Given the description of an element on the screen output the (x, y) to click on. 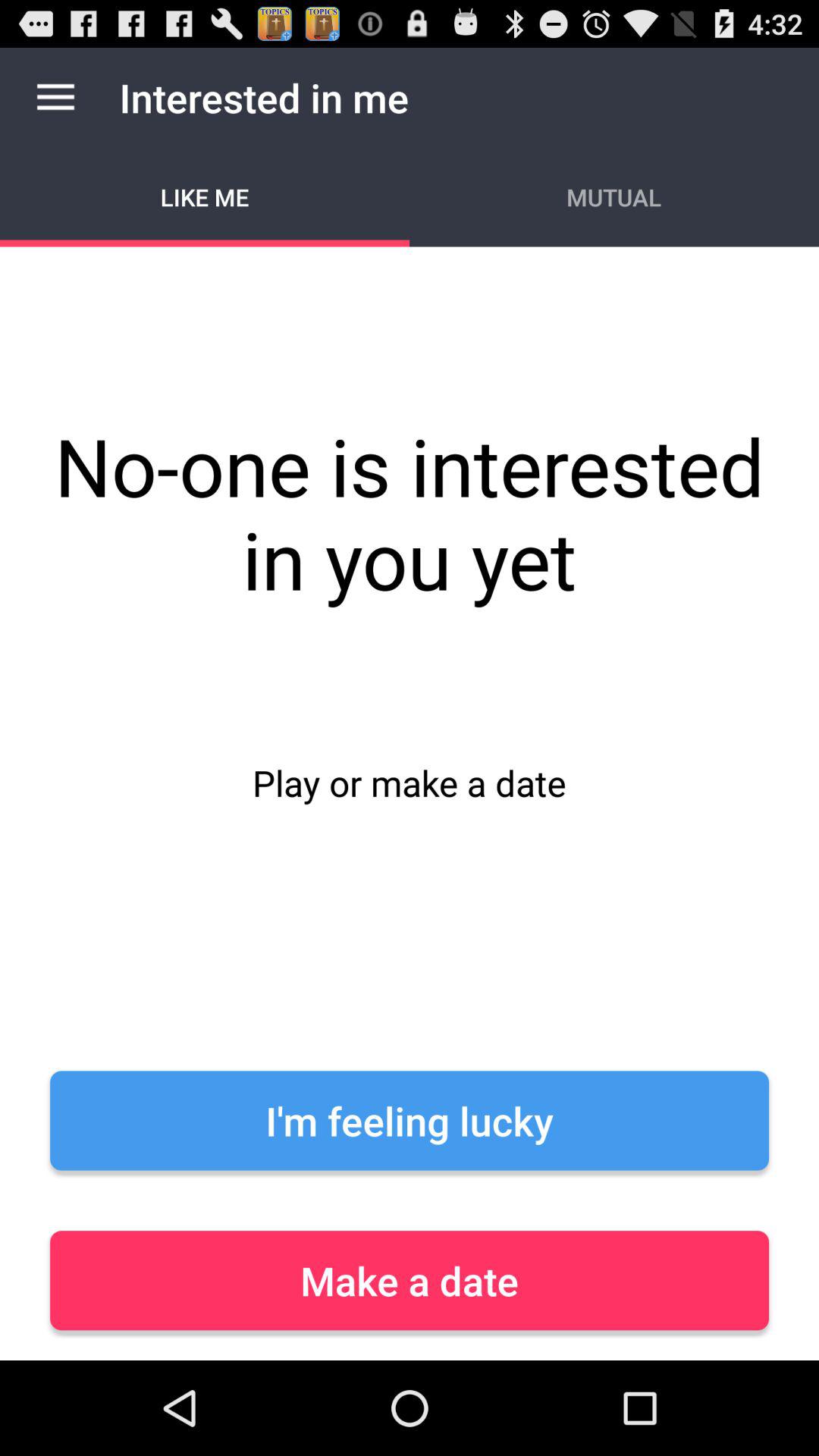
open i m feeling icon (409, 1120)
